Given the description of an element on the screen output the (x, y) to click on. 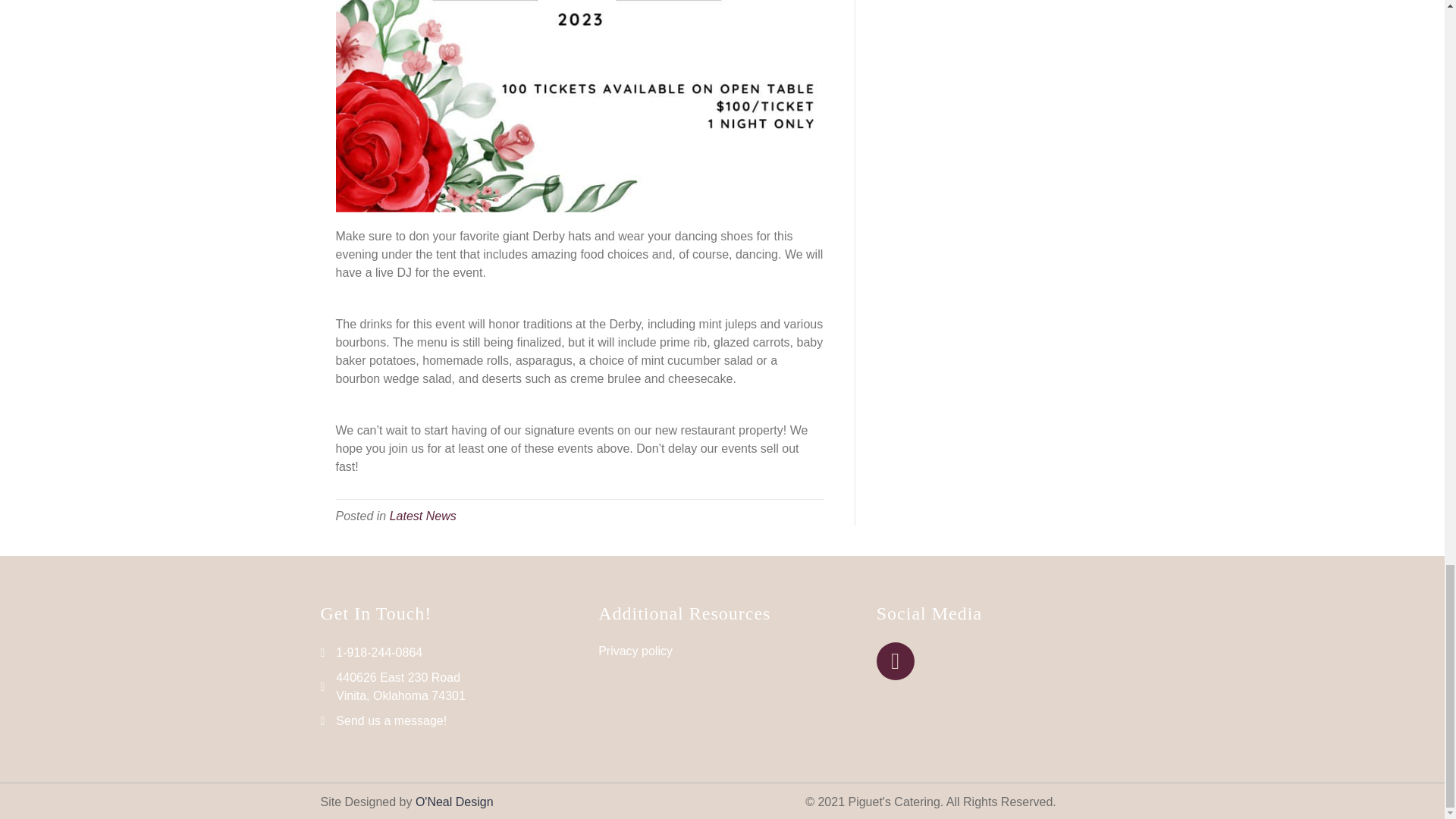
Latest News (423, 515)
Facebook (895, 661)
